Given the description of an element on the screen output the (x, y) to click on. 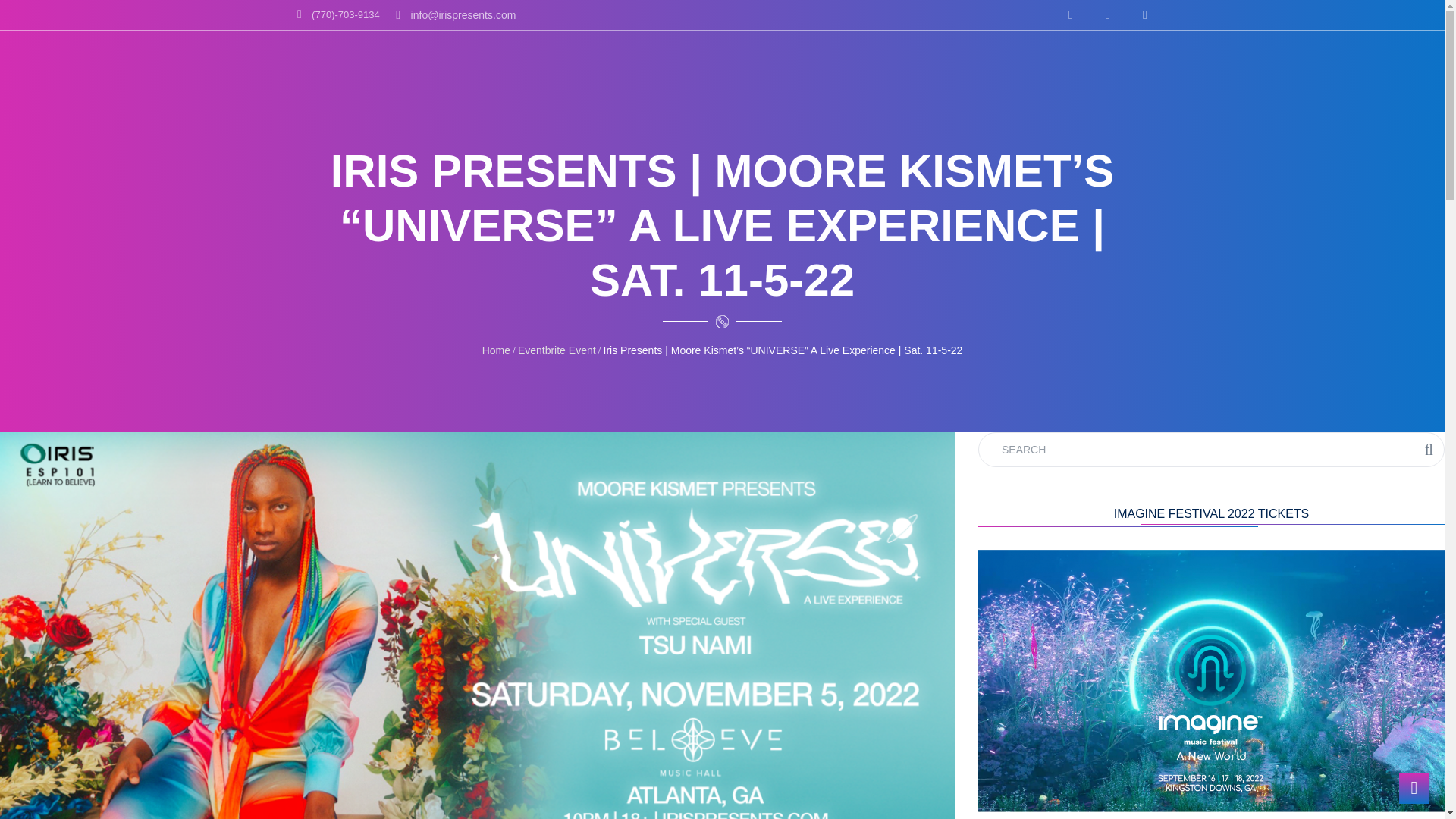
Home (496, 349)
Eventbrite Event (556, 349)
